Given the description of an element on the screen output the (x, y) to click on. 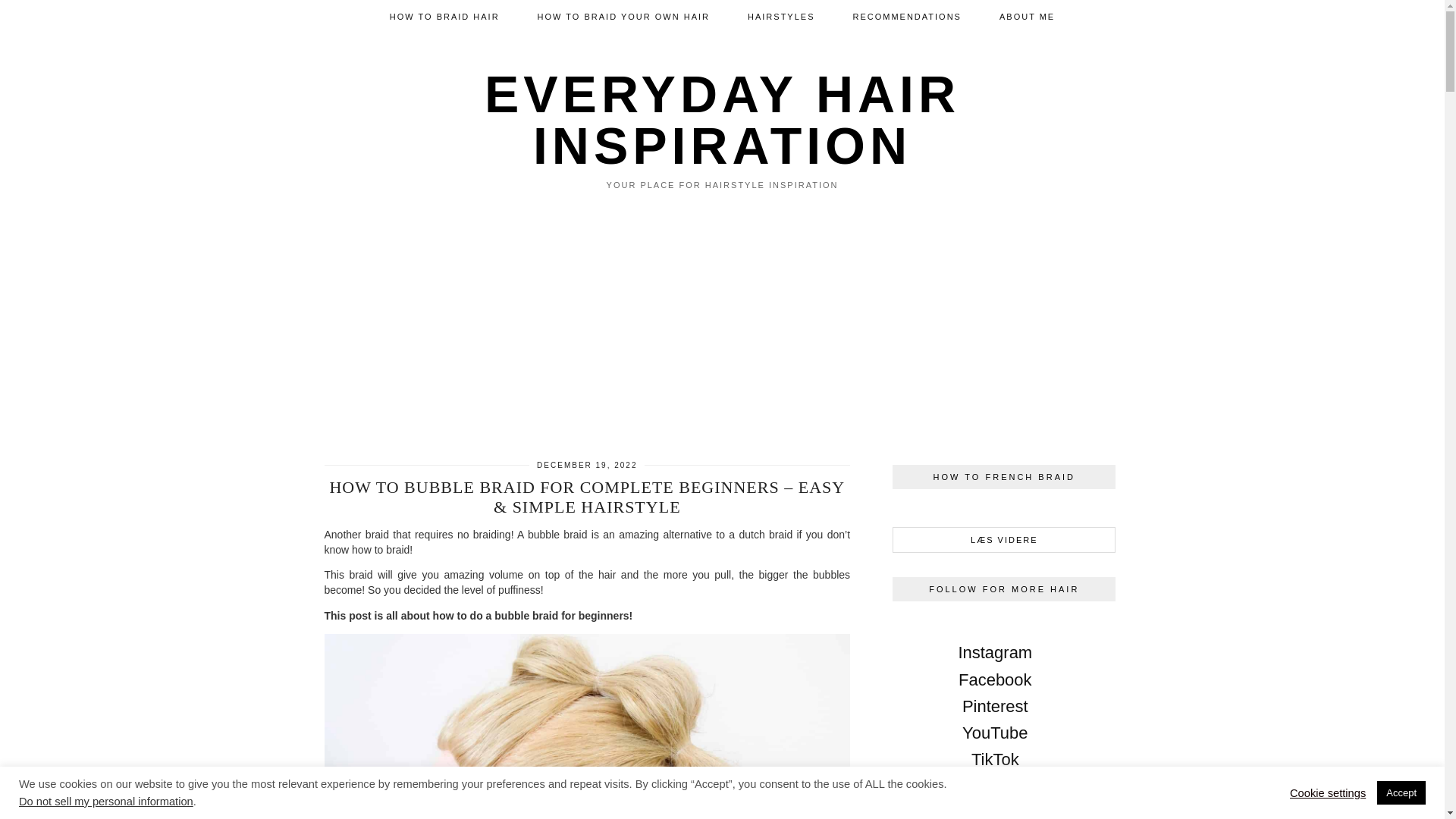
Everyday Hair inspiration (721, 119)
